Given the description of an element on the screen output the (x, y) to click on. 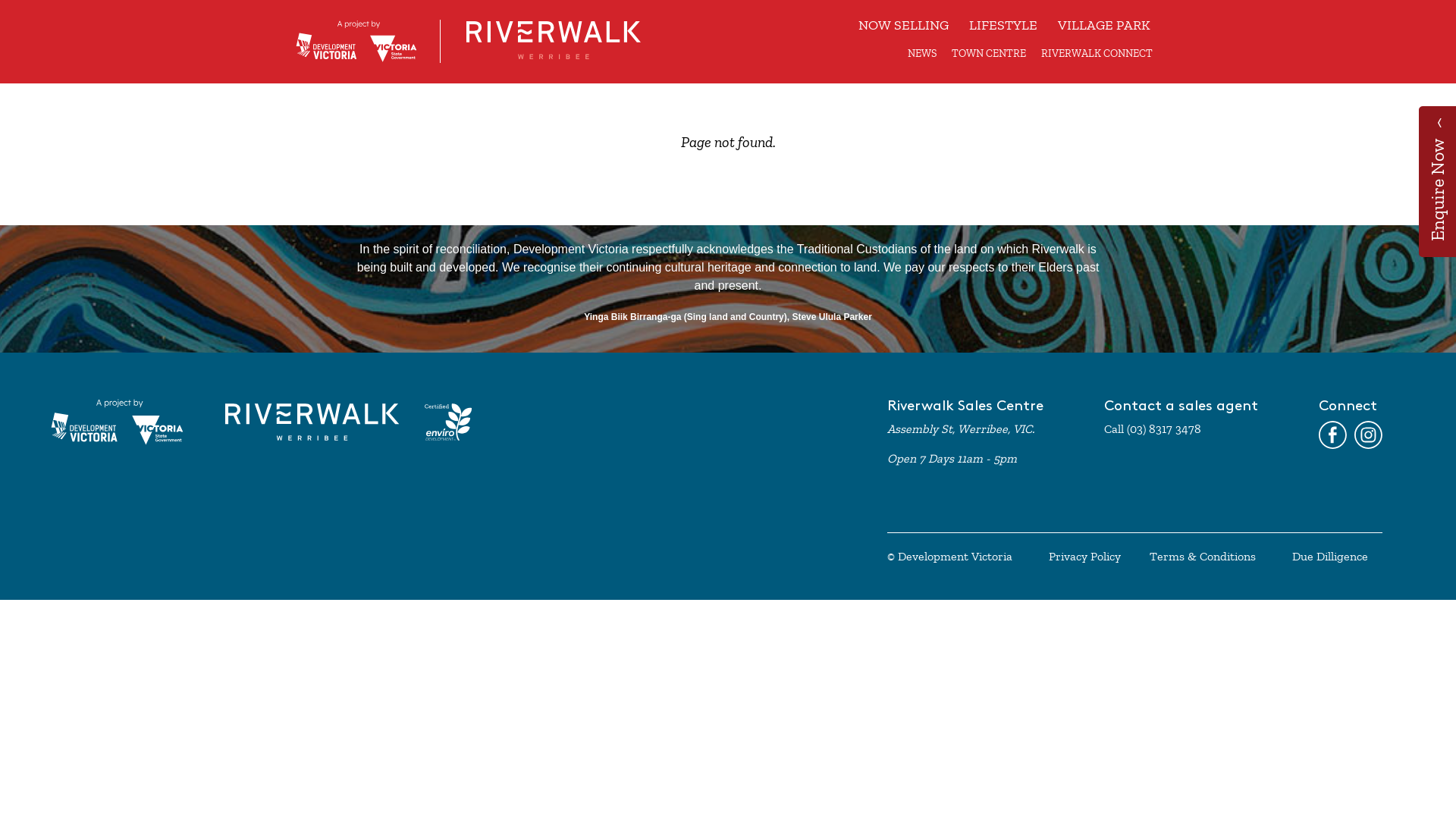
Terms & Conditions Element type: text (1202, 556)
VILLAGE PARK Element type: text (1103, 25)
NOW SELLING Element type: text (903, 25)
Call (03) 8317 3478 Element type: text (1152, 429)
Due Dilligence Element type: text (1330, 556)
Instagram Element type: hover (1368, 434)
Facebook Element type: hover (1332, 434)
Privacy Policy Element type: text (1084, 556)
TOWN CENTRE Element type: text (988, 53)
NEWS Element type: text (921, 53)
Assembly St, Werribee, VIC. Element type: text (960, 429)
LIFESTYLE Element type: text (1003, 25)
RIVERWALK CONNECT Element type: text (1096, 53)
